Given the description of an element on the screen output the (x, y) to click on. 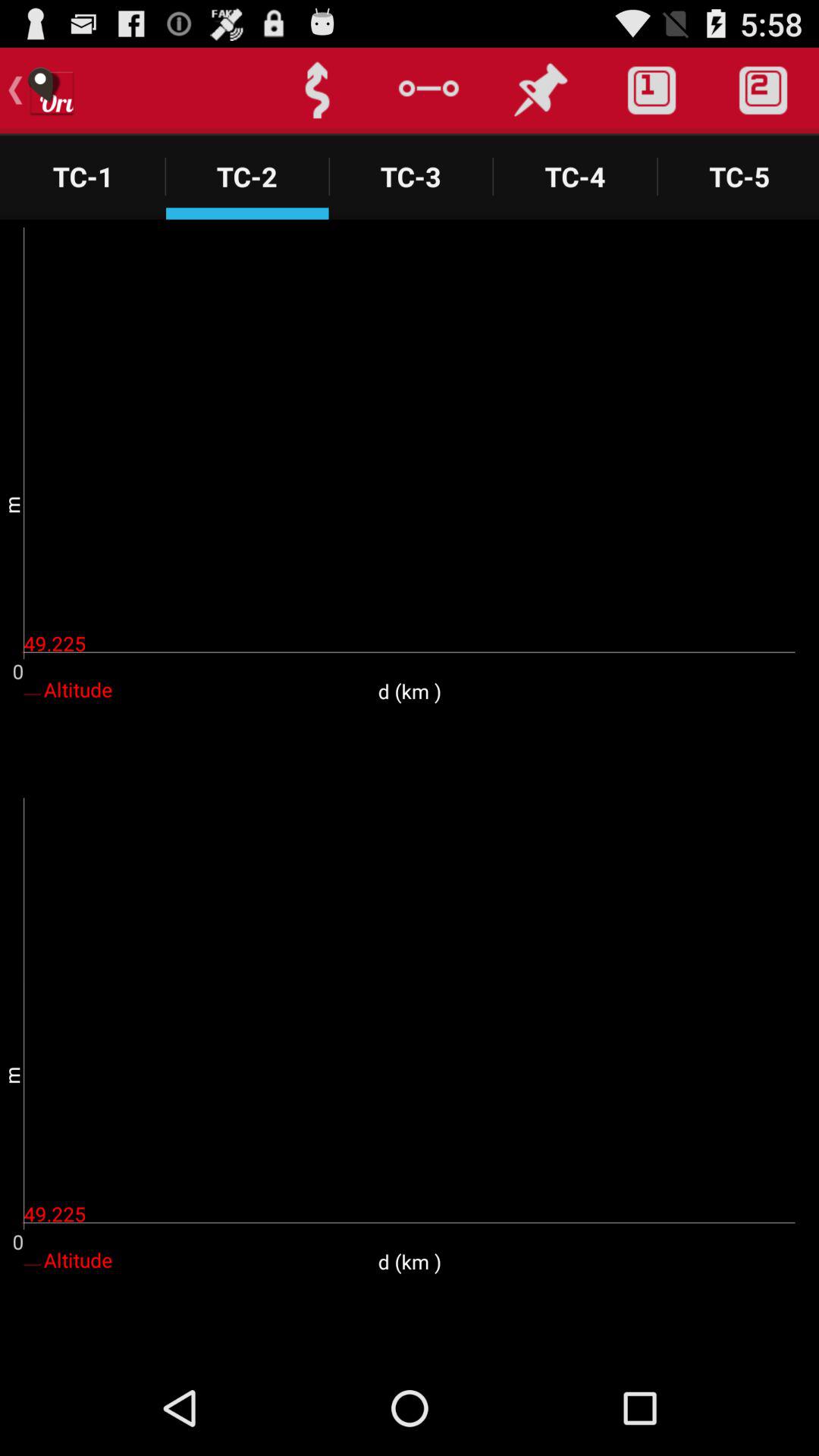
choose icon above the tc-2 app (317, 90)
